Given the description of an element on the screen output the (x, y) to click on. 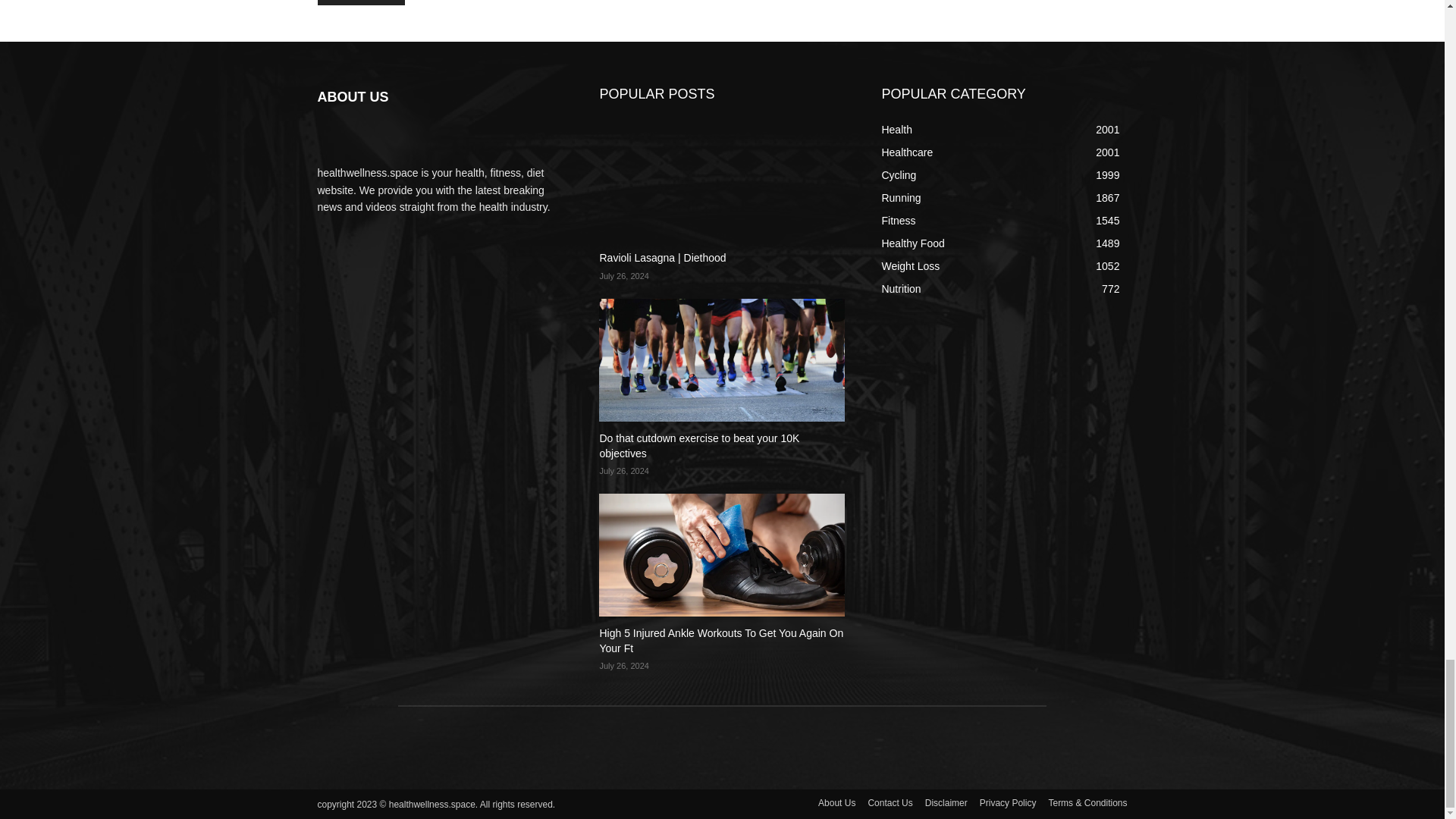
Post Comment (360, 2)
